Given the description of an element on the screen output the (x, y) to click on. 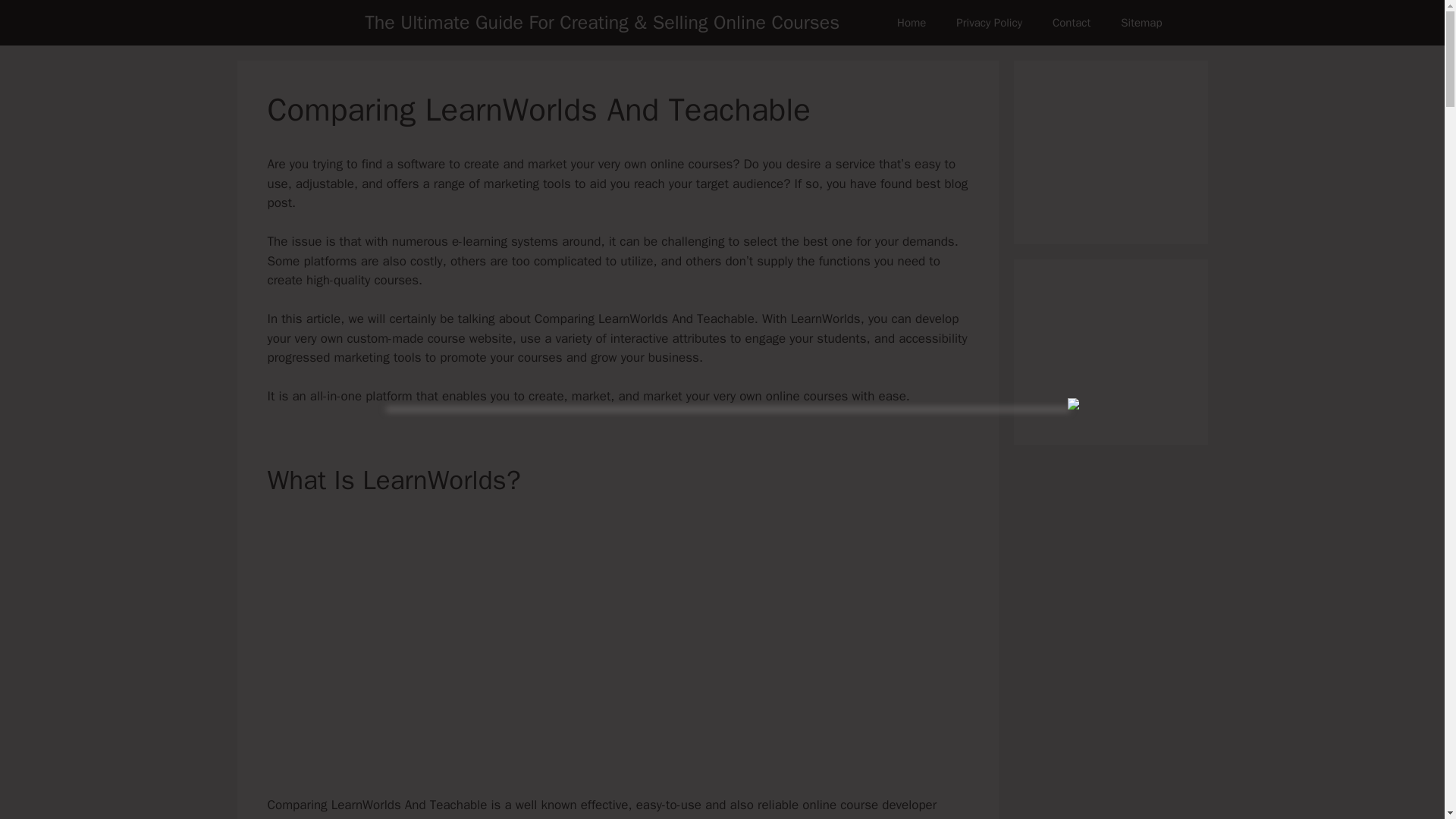
Home (911, 22)
Close (1072, 403)
Privacy Policy (988, 22)
Contact (1070, 22)
Sitemap (1140, 22)
